Given the description of an element on the screen output the (x, y) to click on. 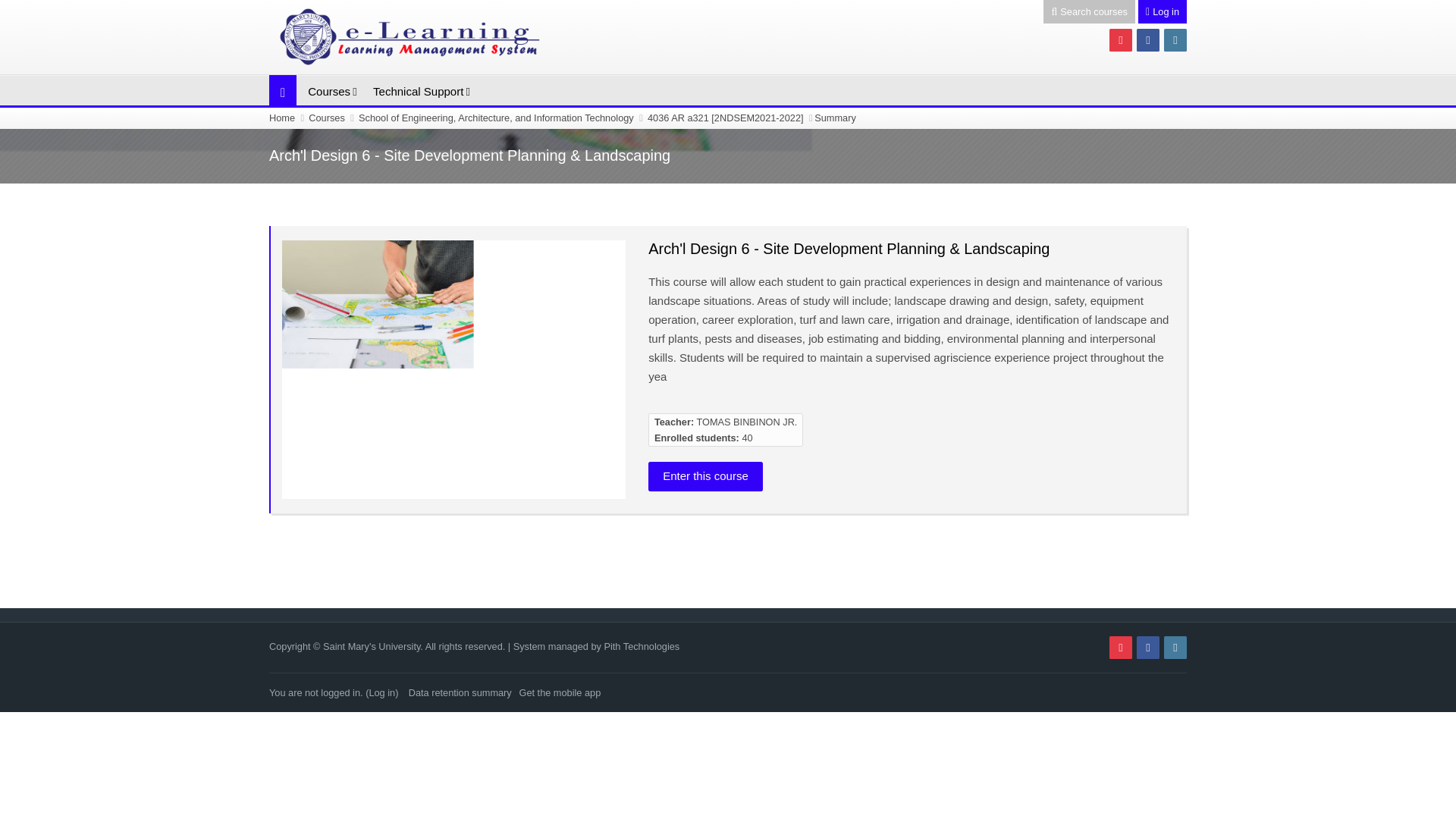
Saint Mary's University (420, 35)
Log in (1162, 11)
Search courses (1089, 11)
Web (1174, 39)
Enter this course (704, 476)
Home (282, 117)
Technical Support (417, 91)
Facebook (1147, 647)
Log in (381, 692)
